Given the description of an element on the screen output the (x, y) to click on. 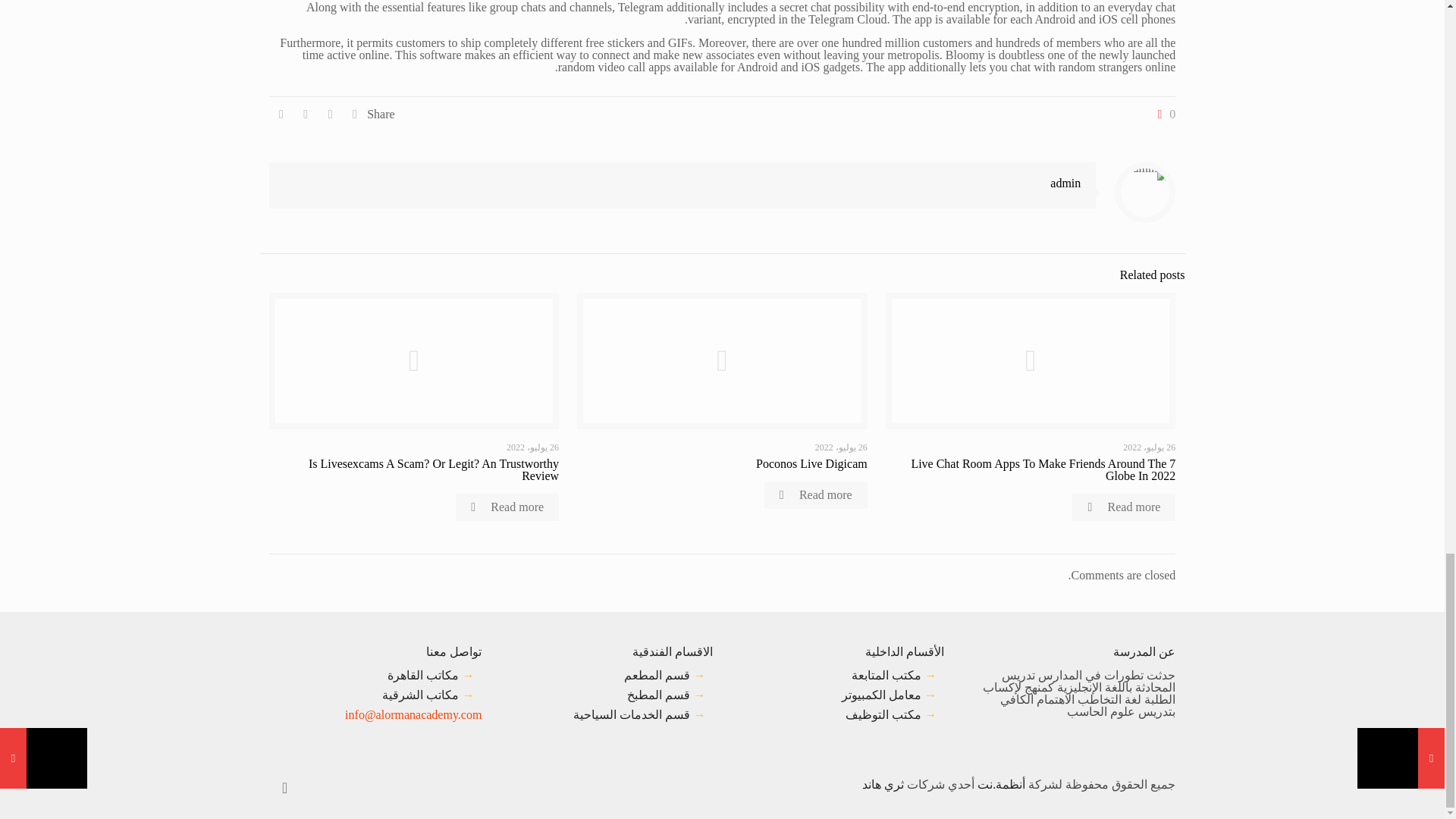
Read more (815, 494)
Is Livesexcams A Scam? Or Legit? An Trustworthy Review (433, 469)
0 (1162, 114)
admin (1064, 182)
Poconos Live Digicam (811, 463)
Read more (507, 506)
Read more (1122, 506)
